Given the description of an element on the screen output the (x, y) to click on. 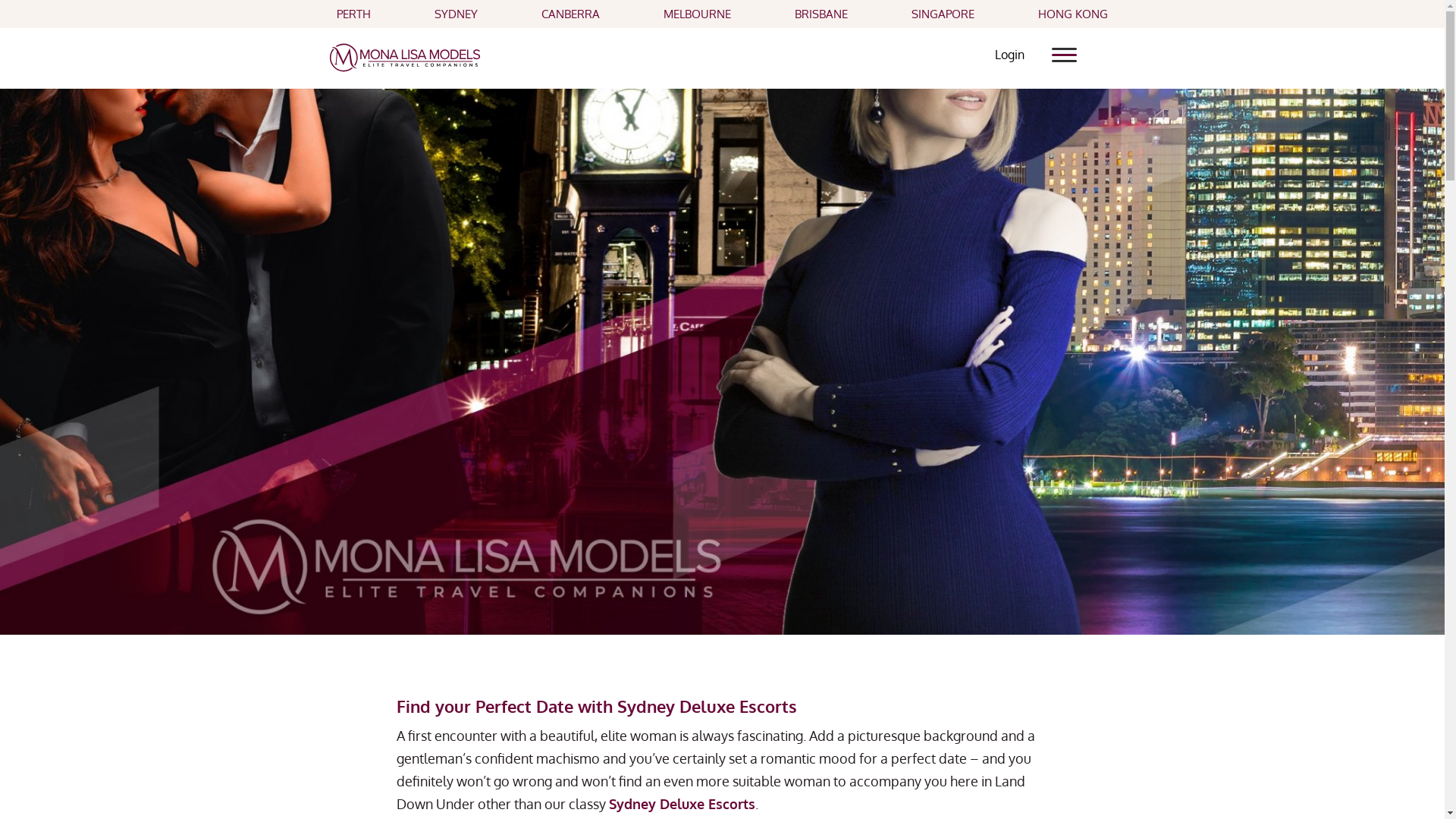
Mona Lisa Models Element type: hover (404, 55)
toggle grid Element type: text (1069, 46)
MELBOURNE Element type: text (697, 13)
CANBERRA Element type: text (570, 13)
toggle grid Element type: text (1064, 54)
Sydney Deluxe Escorts Element type: text (681, 803)
BRISBANE Element type: text (820, 13)
SYDNEY Element type: text (455, 13)
HONG KONG Element type: text (1072, 13)
PERTH Element type: text (353, 13)
Login Element type: text (1009, 54)
SINGAPORE Element type: text (942, 13)
